Given the description of an element on the screen output the (x, y) to click on. 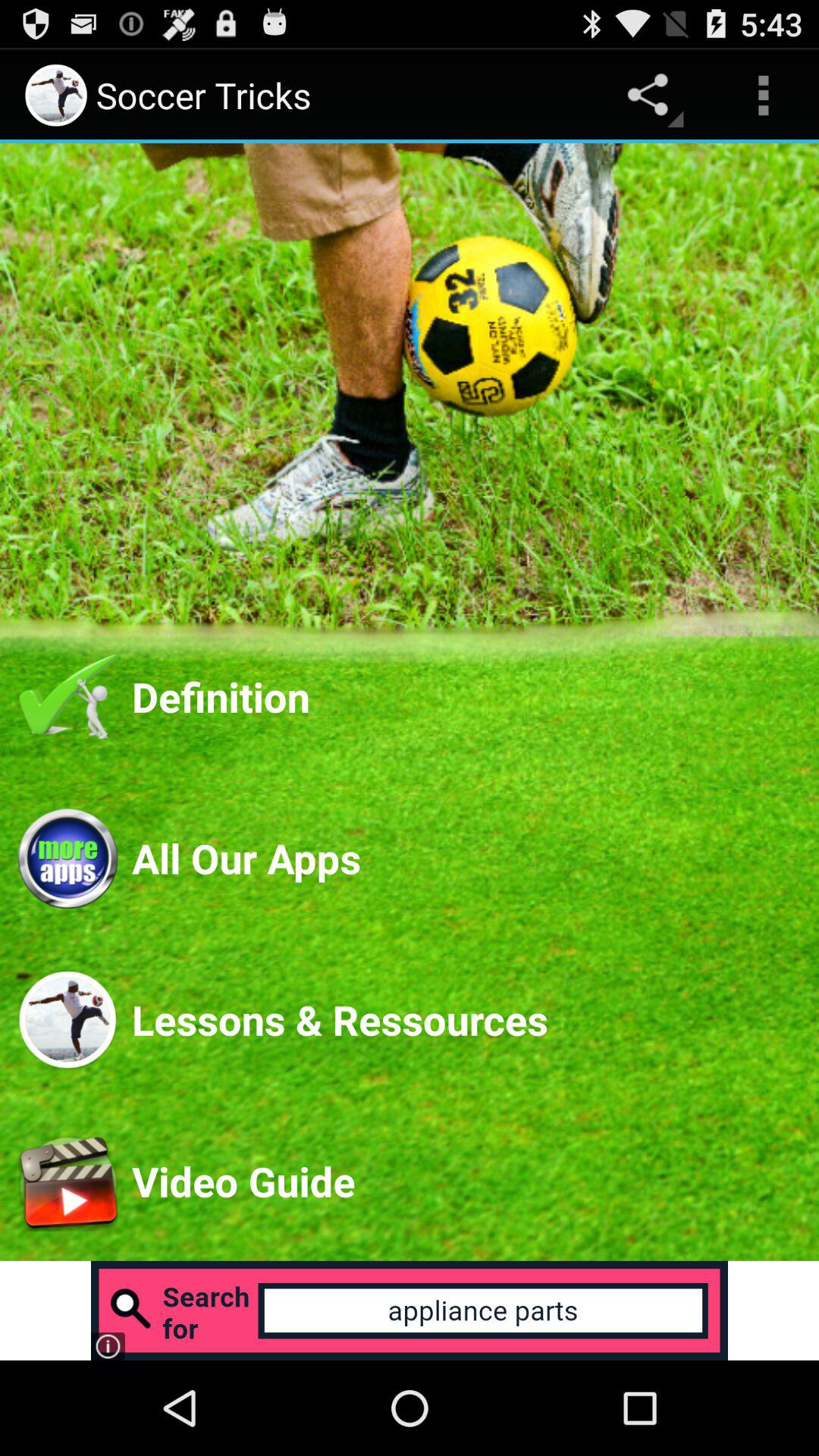
click the item above all our apps (465, 696)
